Given the description of an element on the screen output the (x, y) to click on. 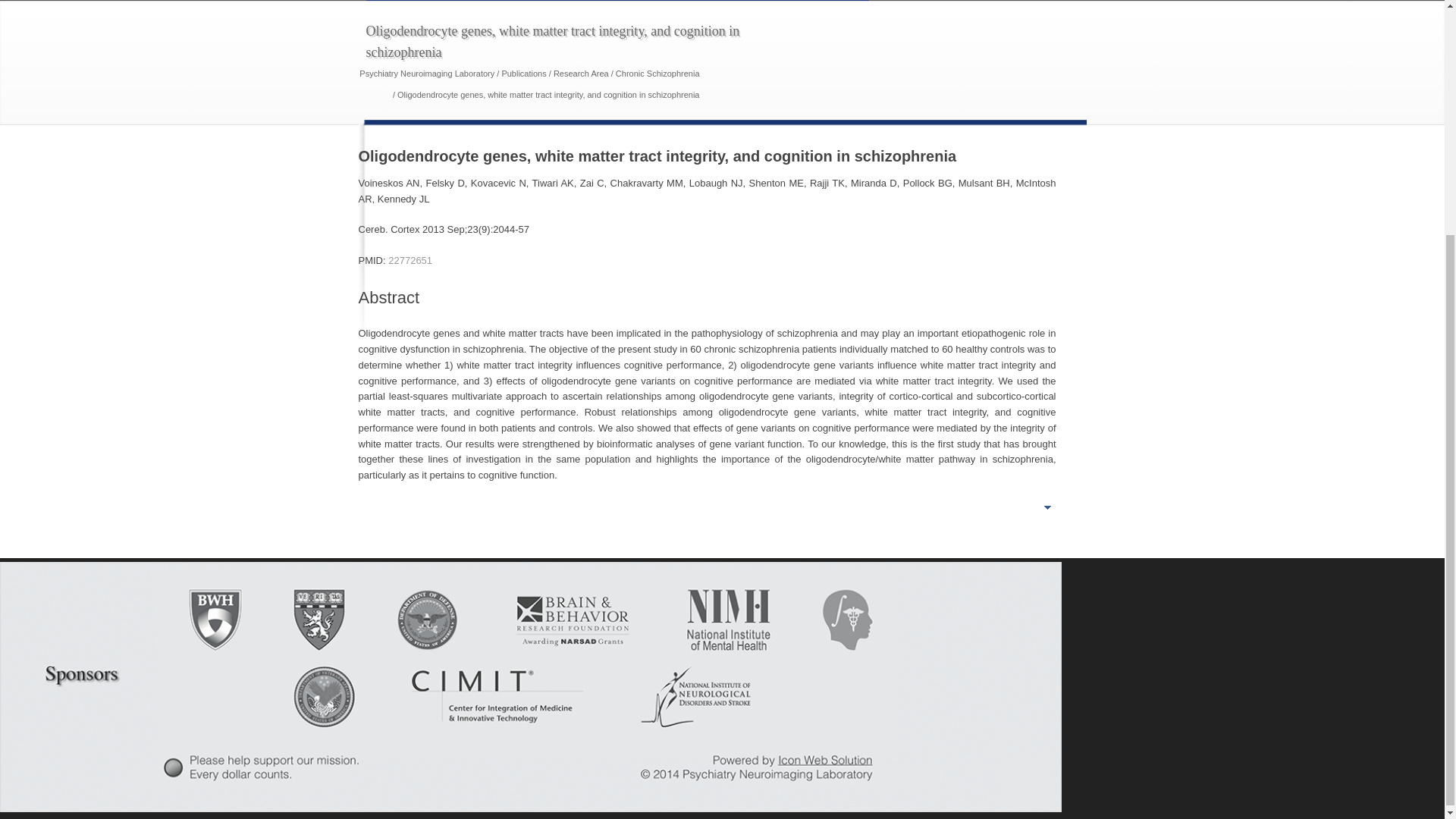
About Us (457, 0)
Research (584, 0)
People (521, 0)
Home (392, 0)
